Given the description of an element on the screen output the (x, y) to click on. 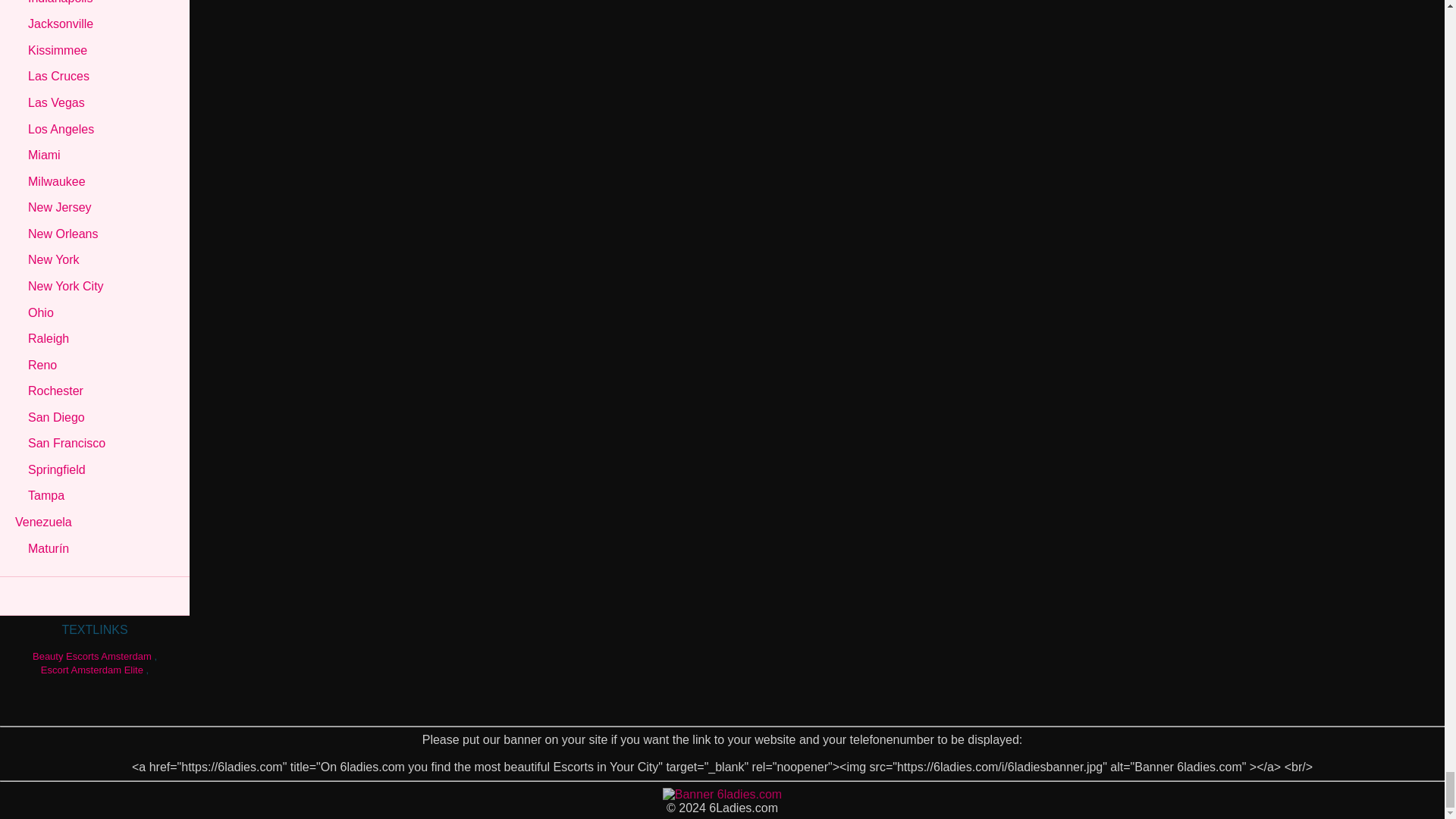
Escort Amsterdam Elite (91, 669)
Beauty Escorts Amsterdam (91, 655)
6ladies.com The Most Beautiful Escorts in Your City! (721, 793)
